Given the description of an element on the screen output the (x, y) to click on. 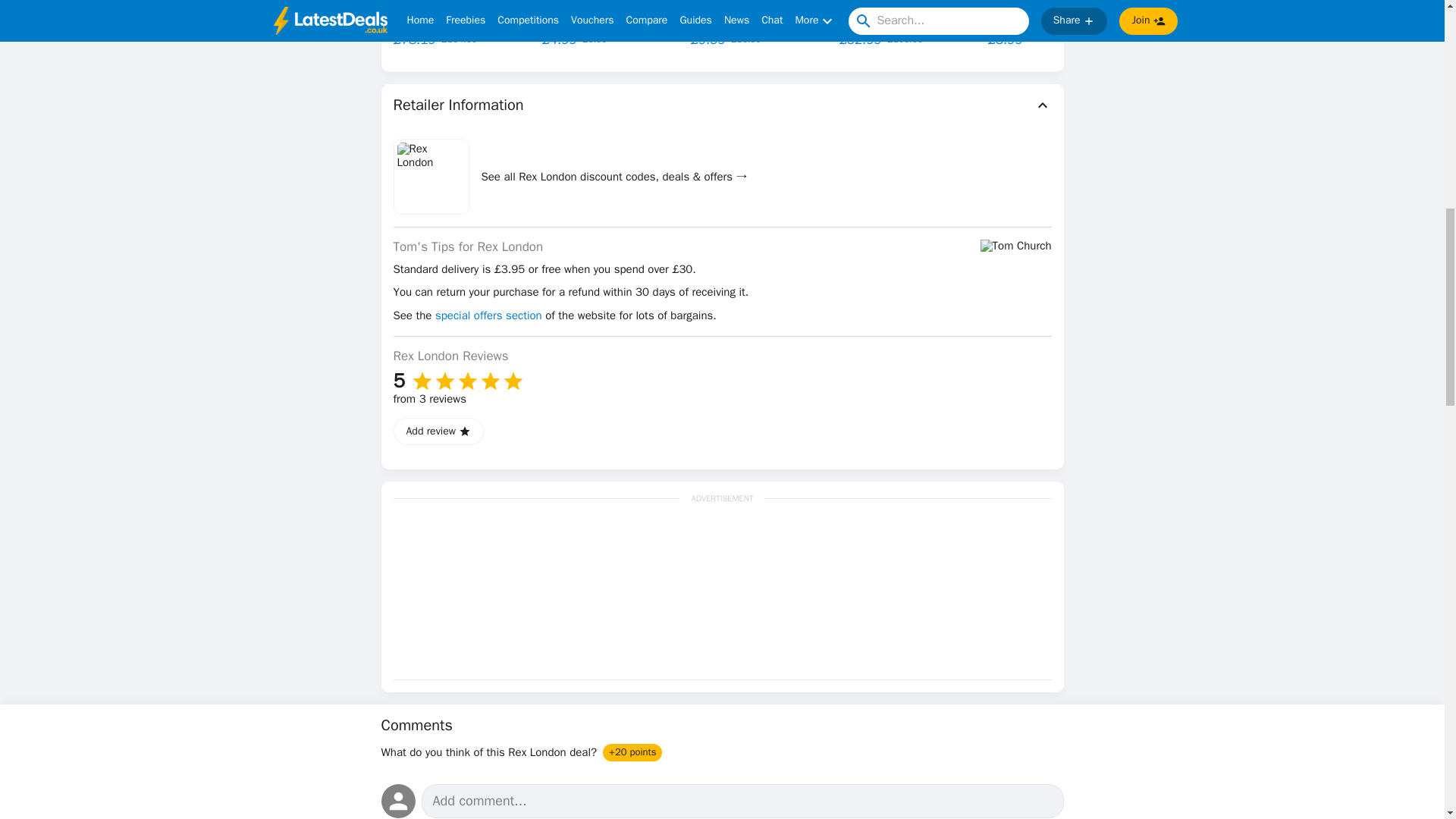
Retailer Information (722, 105)
special offers section (488, 315)
